Given the description of an element on the screen output the (x, y) to click on. 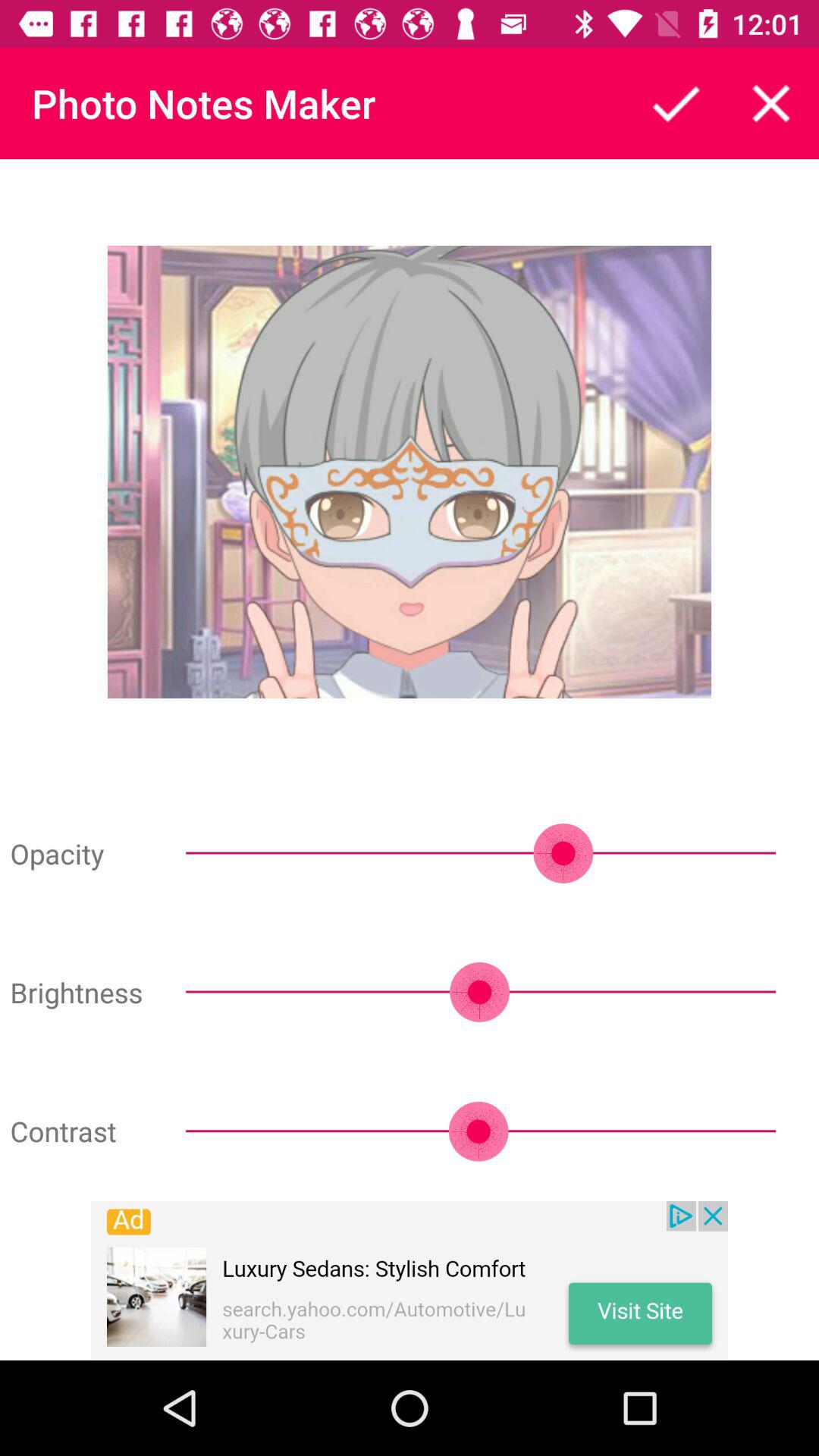
finish note (675, 103)
